Given the description of an element on the screen output the (x, y) to click on. 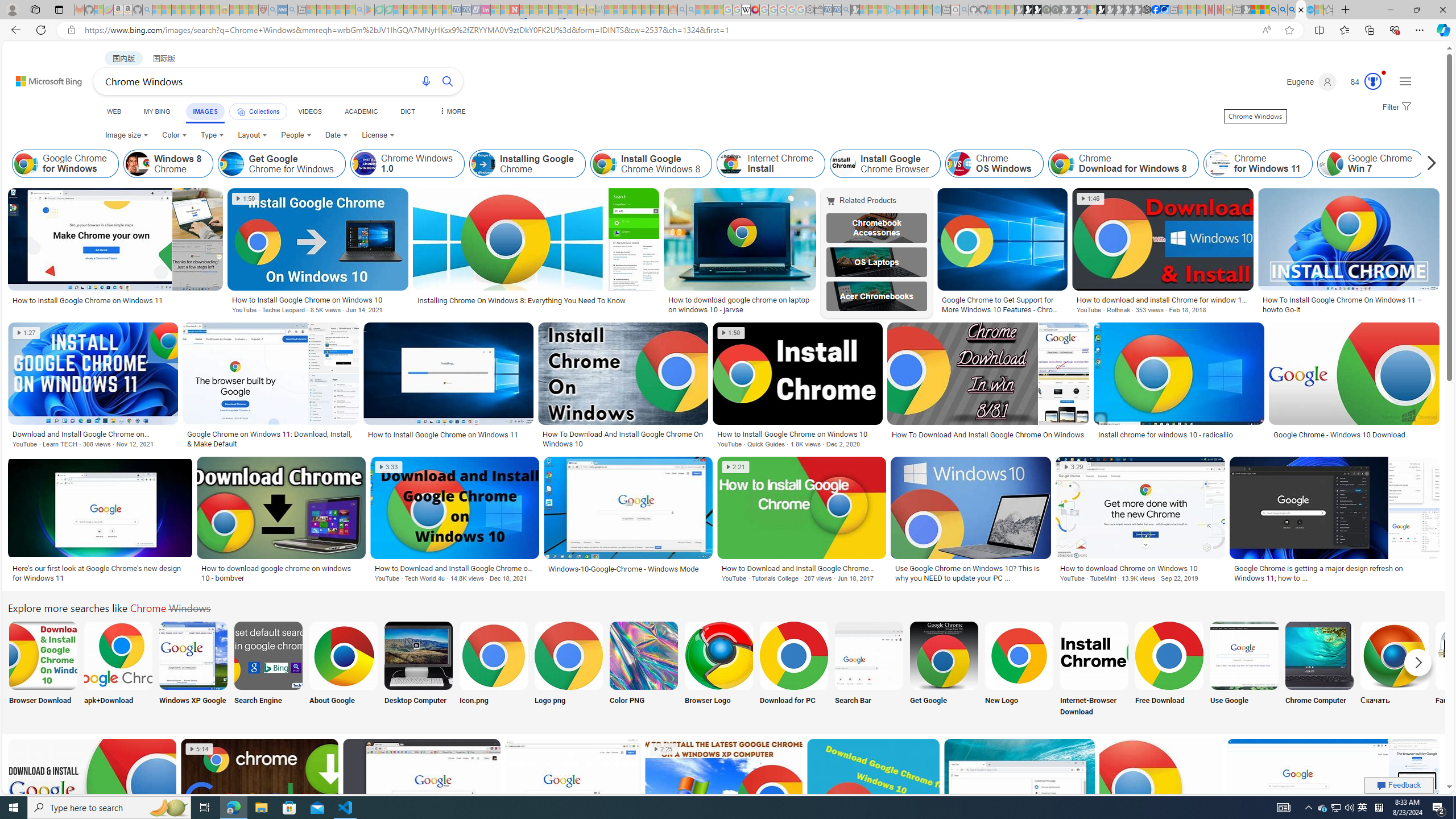
Install chrome for windows 10 - radicallio (1165, 434)
Chrome OS Laptops (877, 261)
Chrome New Logo (1018, 654)
Chrome Windows 1.0 (364, 163)
Robert H. Shmerling, MD - Harvard Health - Sleeping (263, 9)
Scroll right (1428, 163)
Download for PC (794, 669)
How to download google chrome on windows 10 - bombver (280, 573)
2:21 (735, 466)
